Given the description of an element on the screen output the (x, y) to click on. 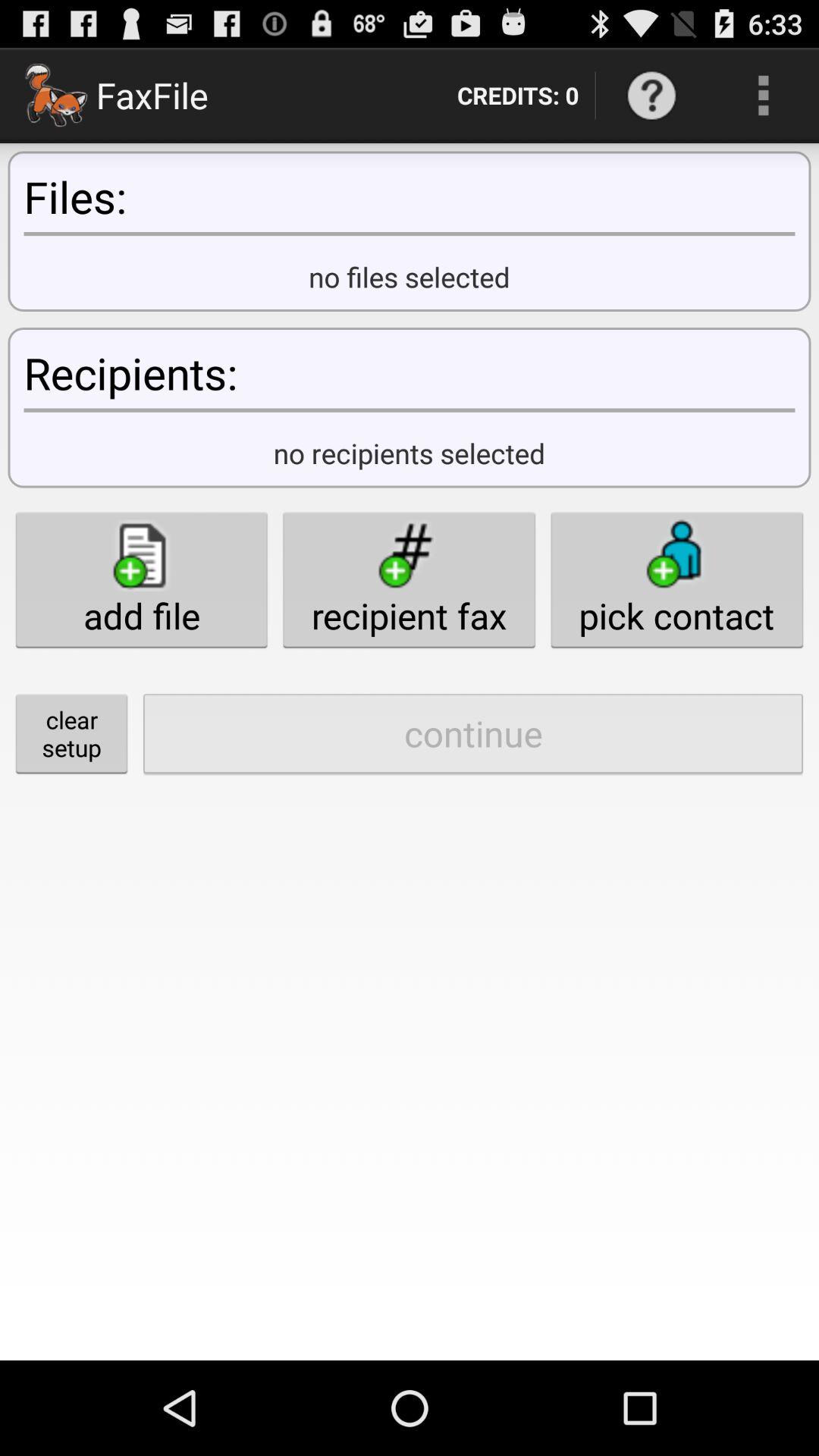
turn on button below the add file (71, 733)
